Given the description of an element on the screen output the (x, y) to click on. 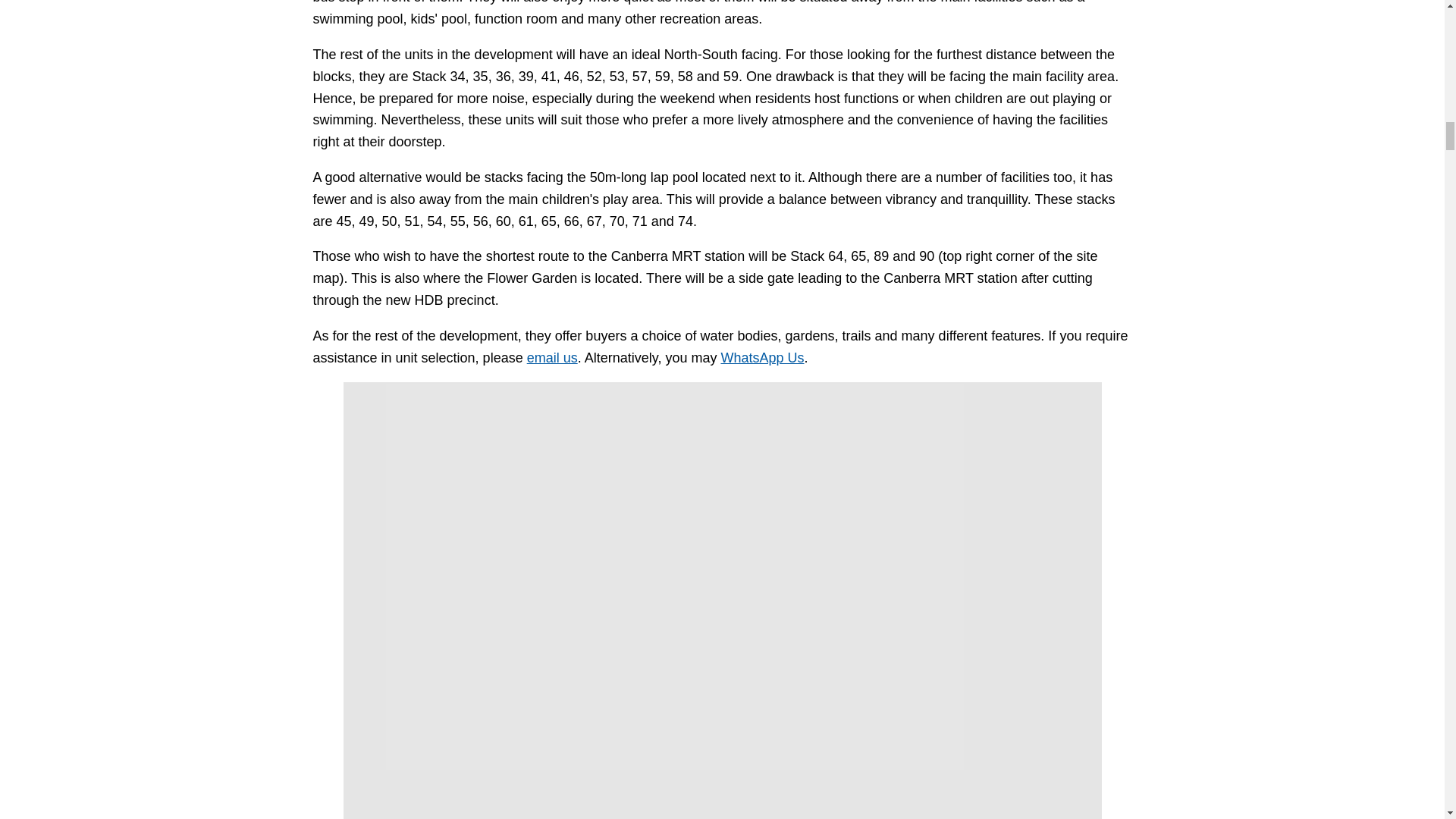
WhatsApp Us (761, 357)
Contact Us (552, 357)
